Given the description of an element on the screen output the (x, y) to click on. 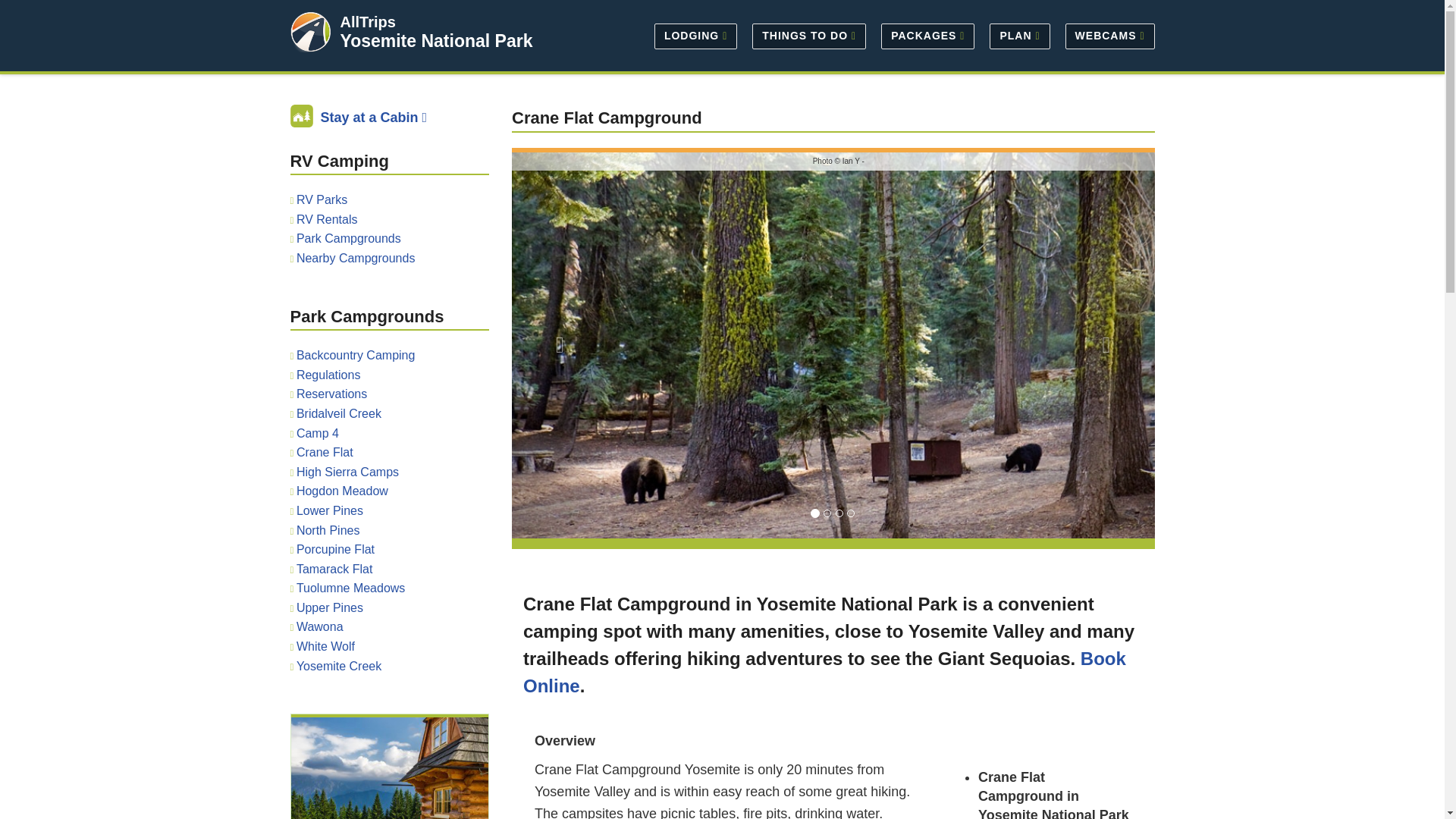
PLAN (1019, 35)
AllTrips (366, 21)
Yosemite National Park (435, 40)
WEBCAMS (1106, 35)
LODGING (695, 35)
PACKAGES (927, 35)
THINGS TO DO (808, 35)
